Given the description of an element on the screen output the (x, y) to click on. 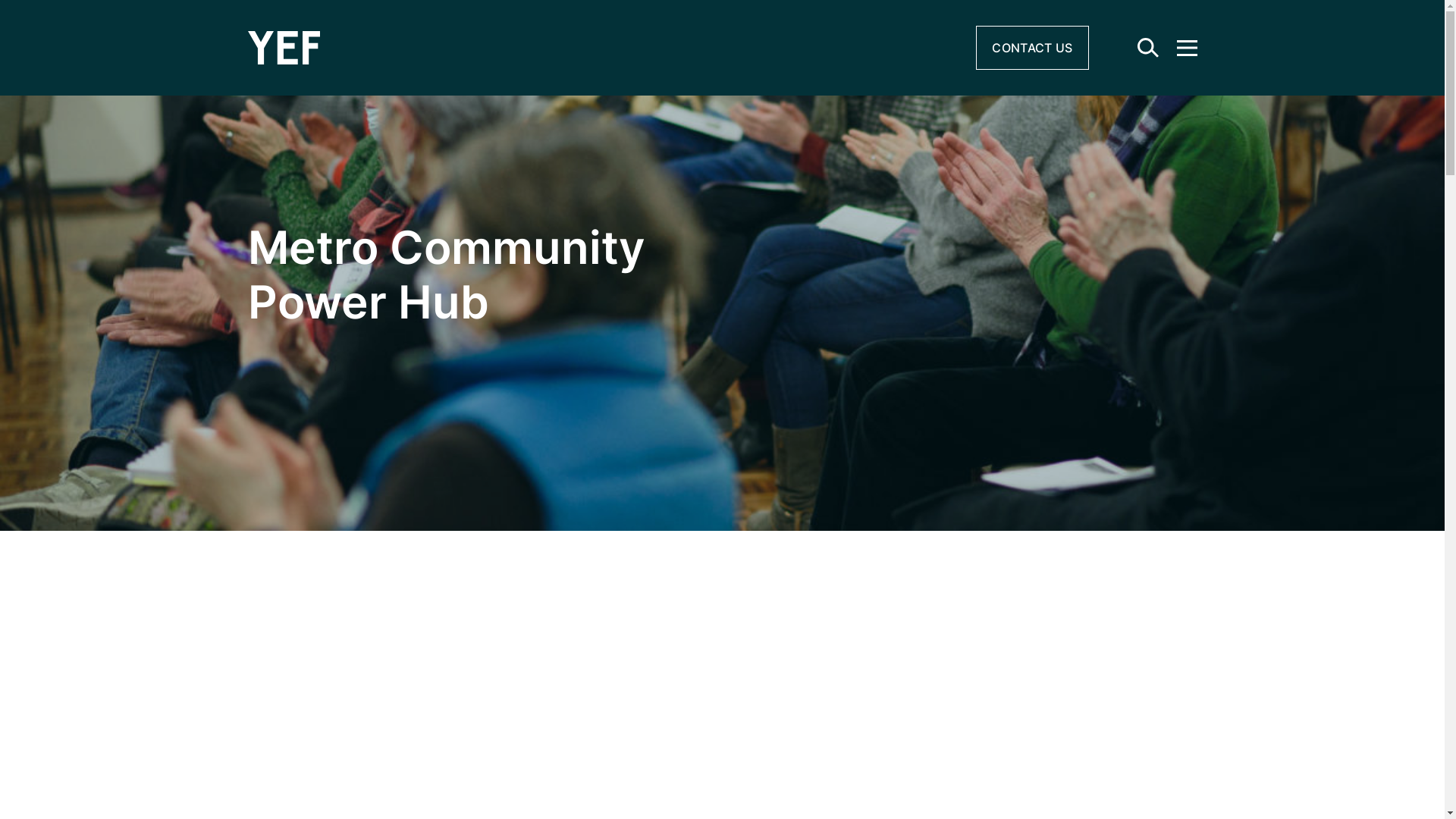
Open menu Element type: hover (1186, 47)
Search the Yarra Energy Foundation Element type: hover (1147, 47)
CONTACT US Element type: text (1031, 47)
Return Home Element type: hover (517, 47)
